Given the description of an element on the screen output the (x, y) to click on. 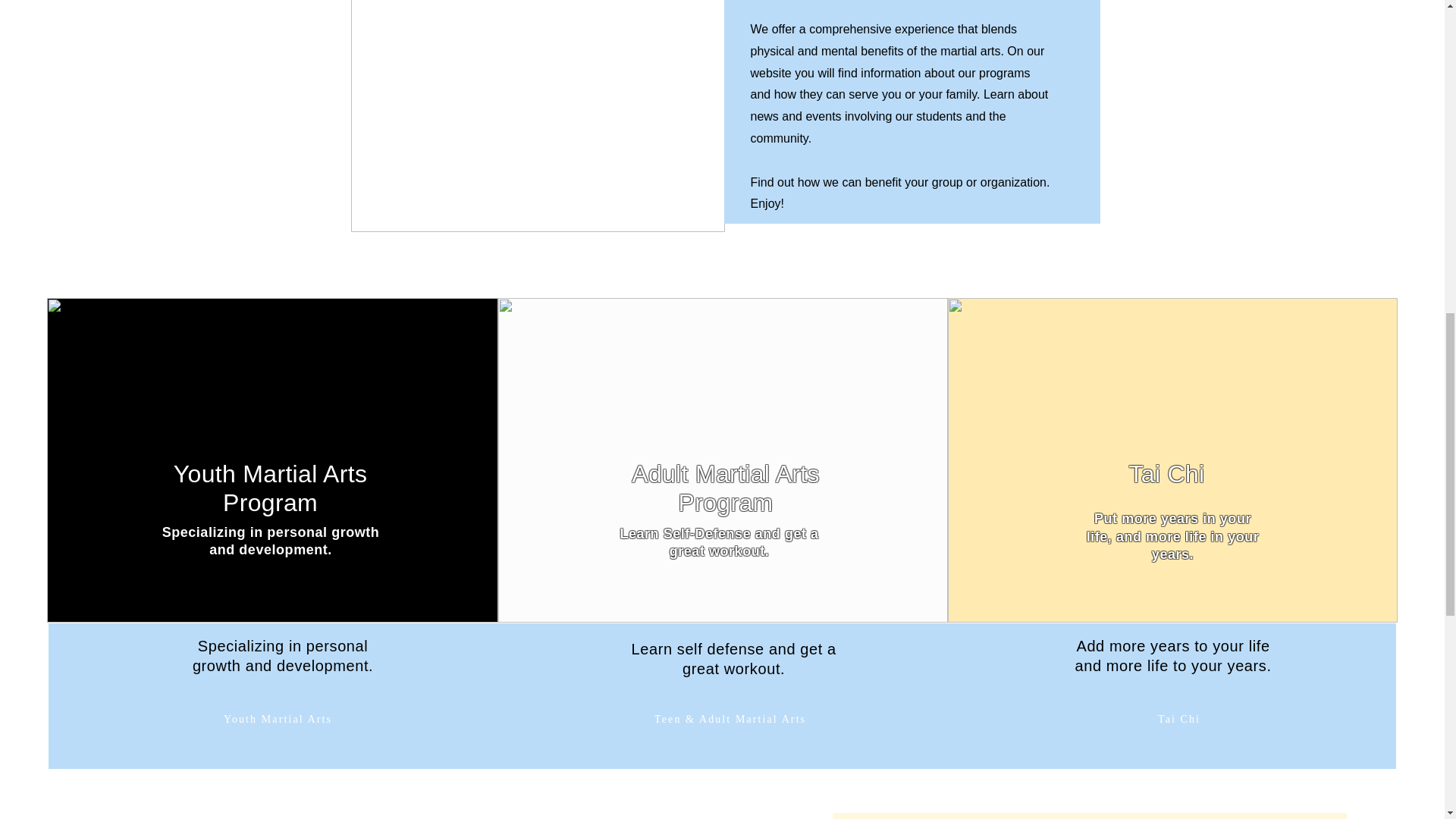
Youth Martial Arts (277, 719)
Tai Chi (1179, 719)
